Given the description of an element on the screen output the (x, y) to click on. 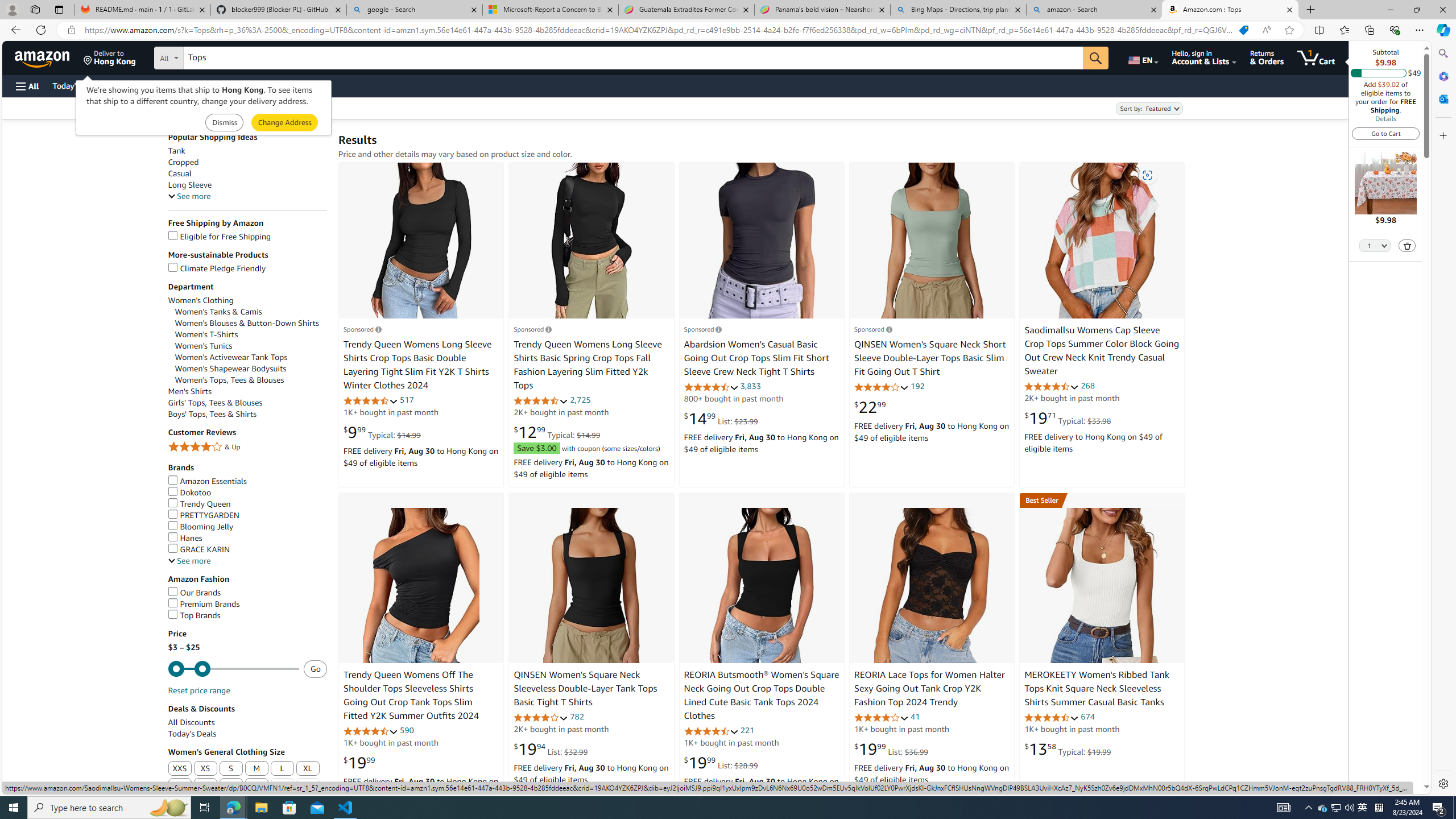
Girls' Tops, Tees & Blouses (247, 402)
Customer Service (145, 85)
Quantity Selector (1374, 245)
Women's Shapewear Bodysuits (230, 368)
L (282, 769)
$13.58 Typical: $19.99 (1067, 748)
Go to Cart (1385, 133)
See more, Brands (189, 560)
M (255, 768)
